Given the description of an element on the screen output the (x, y) to click on. 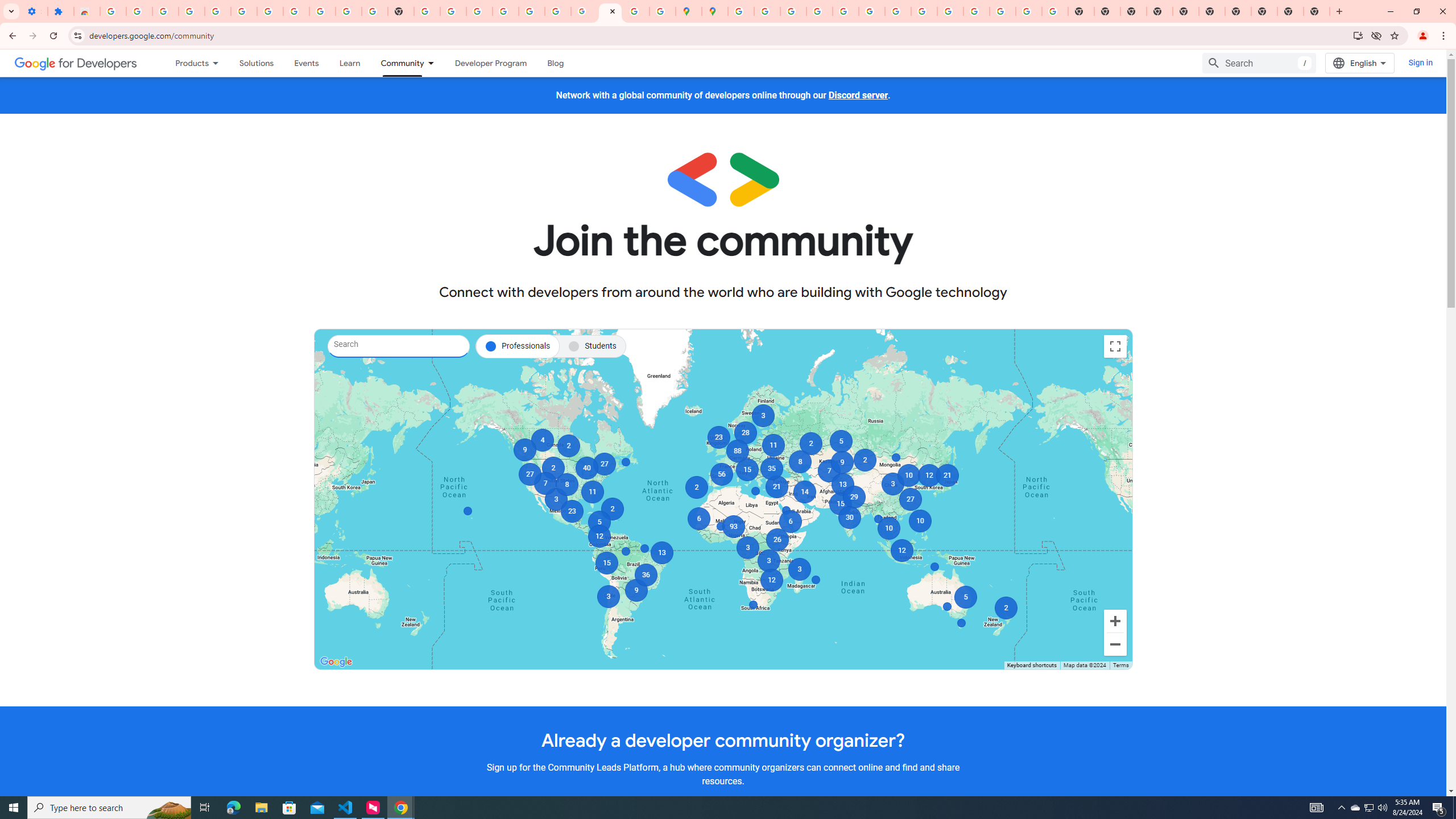
Google Images (1054, 11)
Search (398, 345)
88 (736, 450)
21 (947, 475)
Dropdown menu for Products (219, 62)
New Tab (1316, 11)
Products (186, 62)
13 (660, 552)
10 (908, 475)
